Given the description of an element on the screen output the (x, y) to click on. 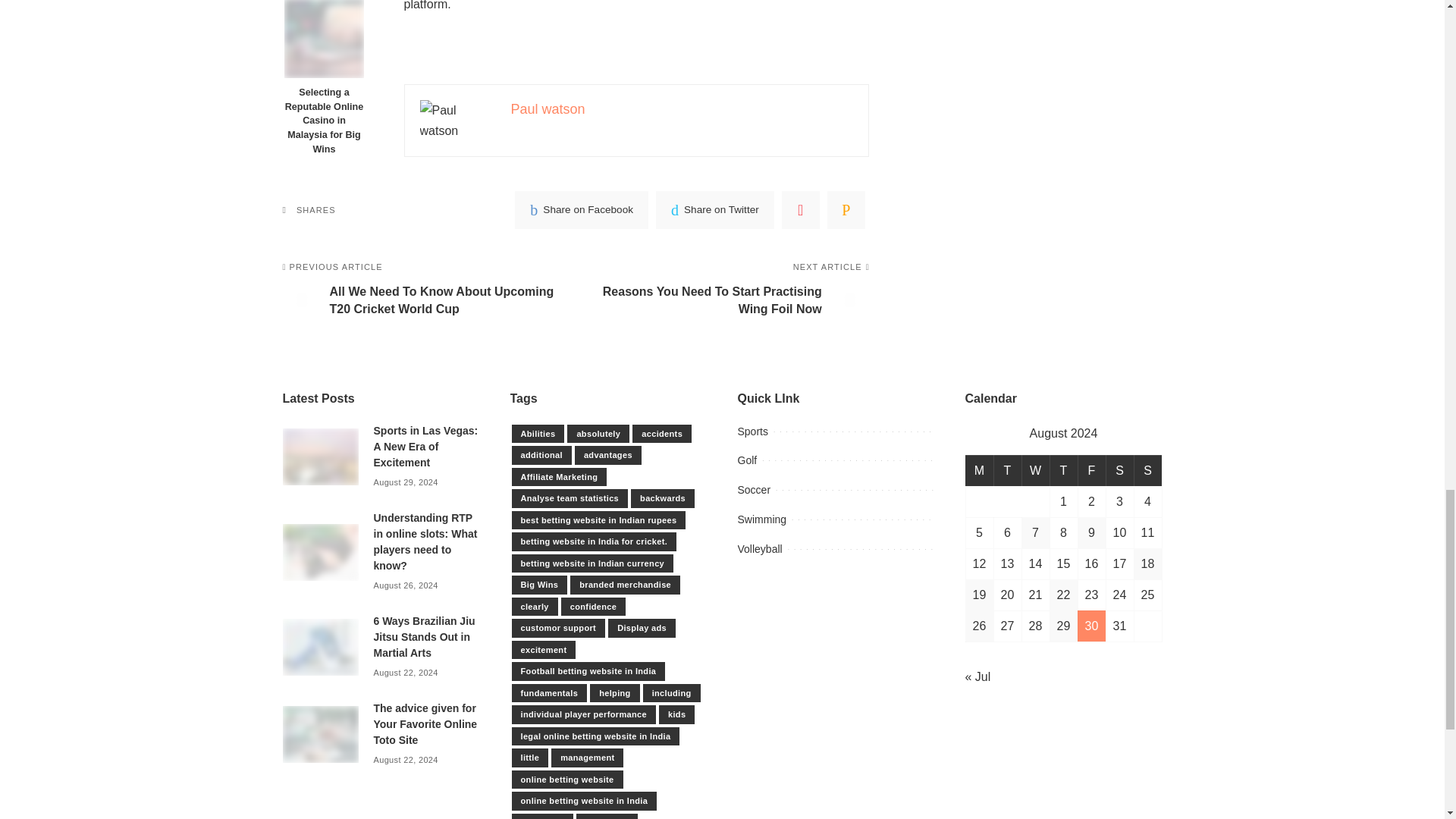
Share on Facebook (581, 209)
Paul watson (548, 109)
Share on Twitter (715, 209)
